Given the description of an element on the screen output the (x, y) to click on. 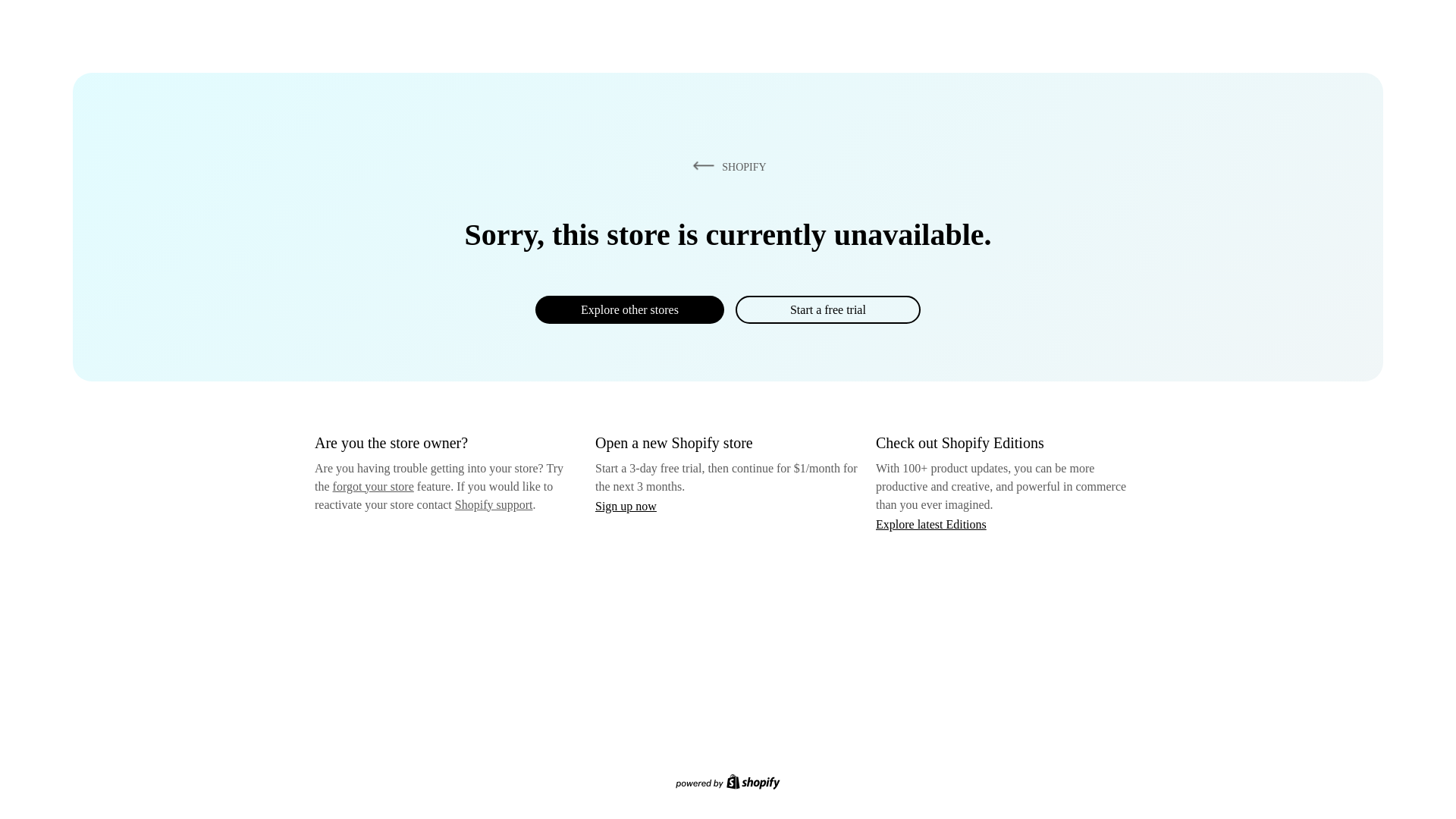
Sign up now (625, 505)
Explore latest Editions (931, 523)
forgot your store (373, 486)
Explore other stores (629, 309)
Shopify support (493, 504)
Start a free trial (827, 309)
SHOPIFY (726, 166)
